Given the description of an element on the screen output the (x, y) to click on. 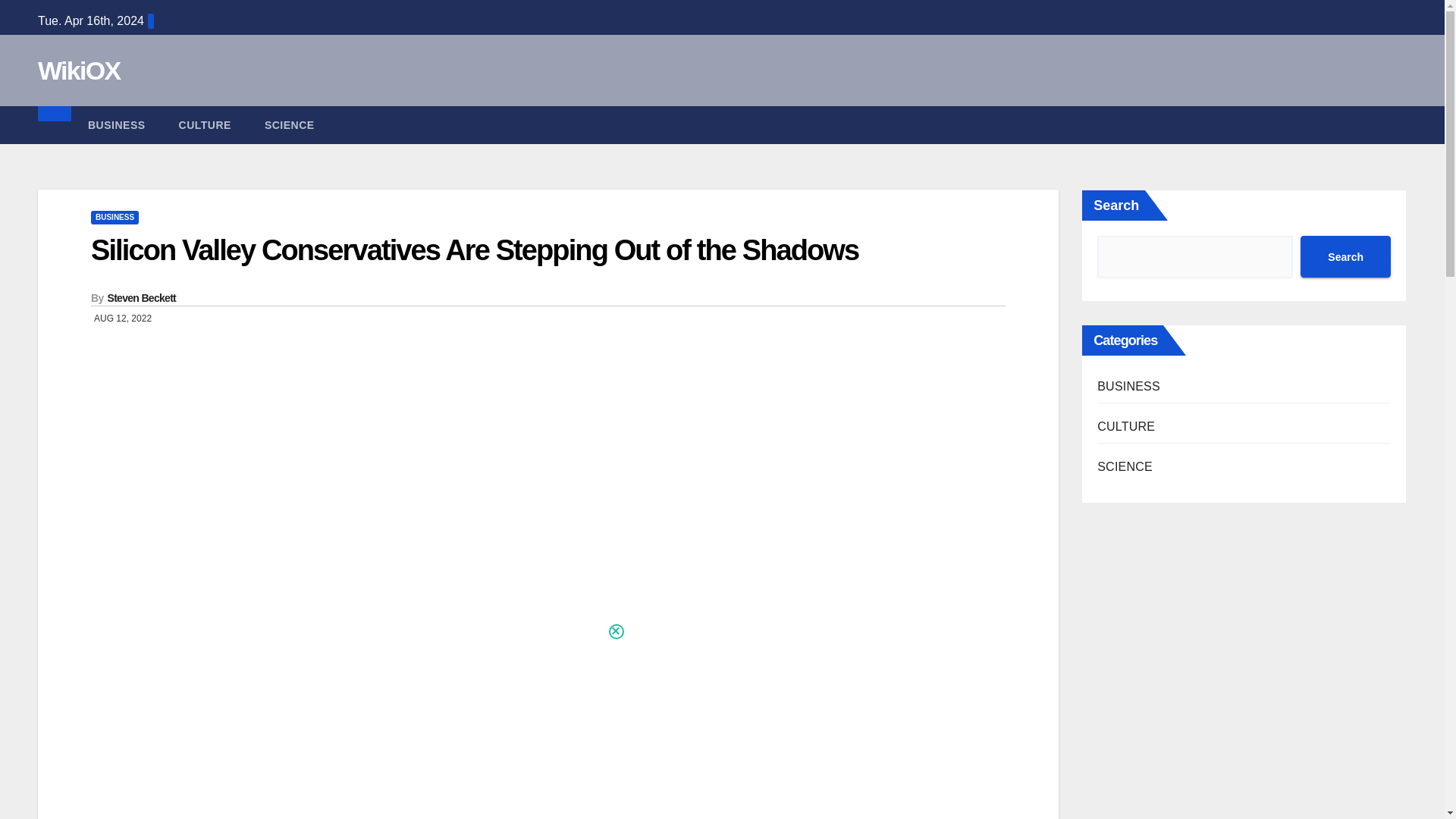
BUSINESS (116, 125)
WikiOX (78, 70)
BUSINESS (116, 125)
Silicon Valley Conservatives Are Stepping Out of the Shadows (474, 250)
Steven Beckett (141, 297)
SCIENCE (289, 125)
SCIENCE (289, 125)
CULTURE (204, 125)
CULTURE (204, 125)
BUSINESS (114, 217)
